Given the description of an element on the screen output the (x, y) to click on. 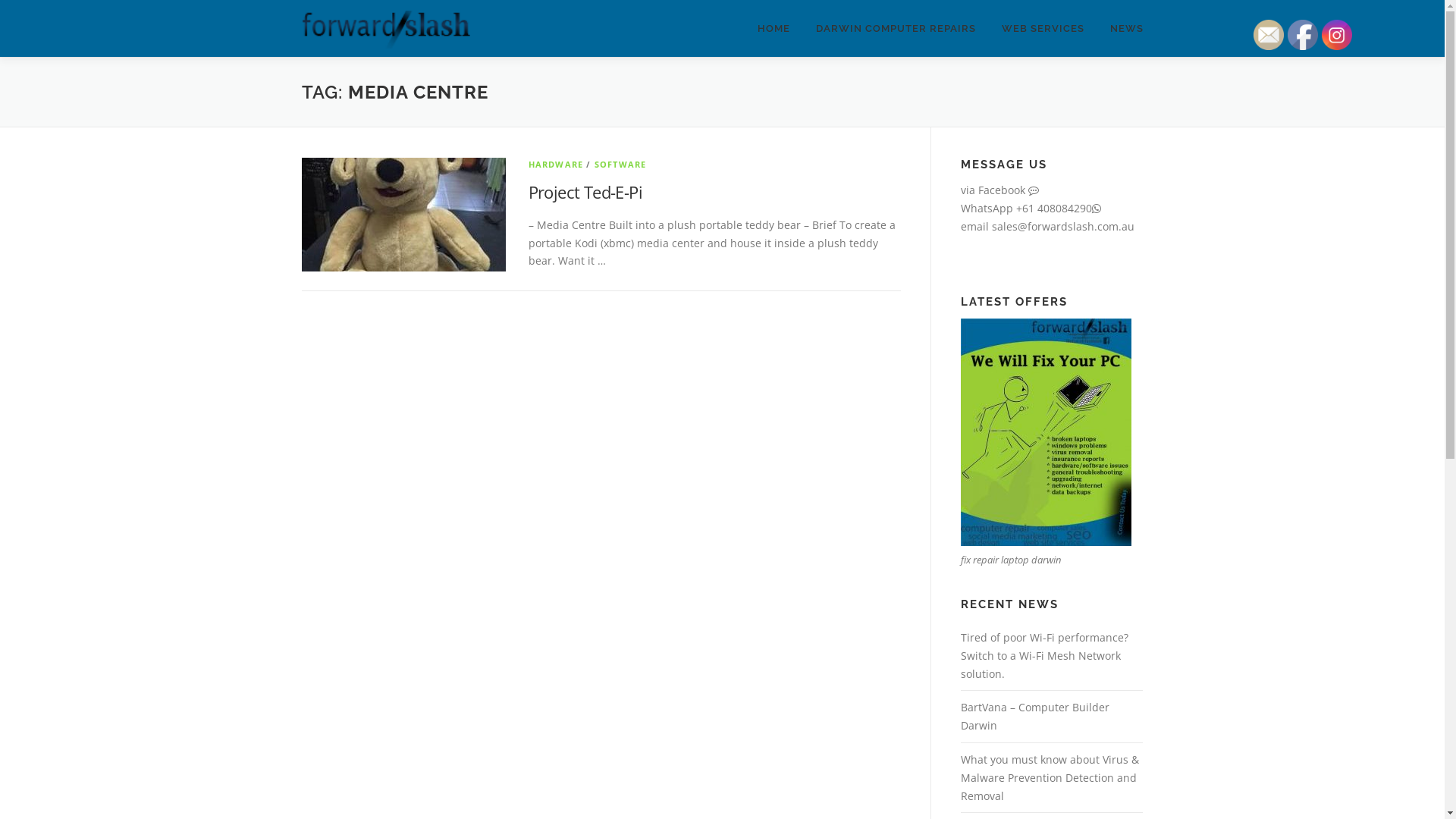
NEWS Element type: text (1119, 28)
DARWIN COMPUTER REPAIRS Element type: text (895, 28)
Project Ted-E-Pi Element type: text (584, 191)
via Facebook Element type: text (999, 189)
HOME Element type: text (773, 28)
WEB SERVICES Element type: text (1042, 28)
SOFTWARE Element type: text (620, 163)
Facebook Element type: hover (1302, 34)
Follow by Email Element type: hover (1268, 34)
WhatsApp +61 408084290 Element type: text (1030, 207)
HARDWARE Element type: text (555, 163)
